Given the description of an element on the screen output the (x, y) to click on. 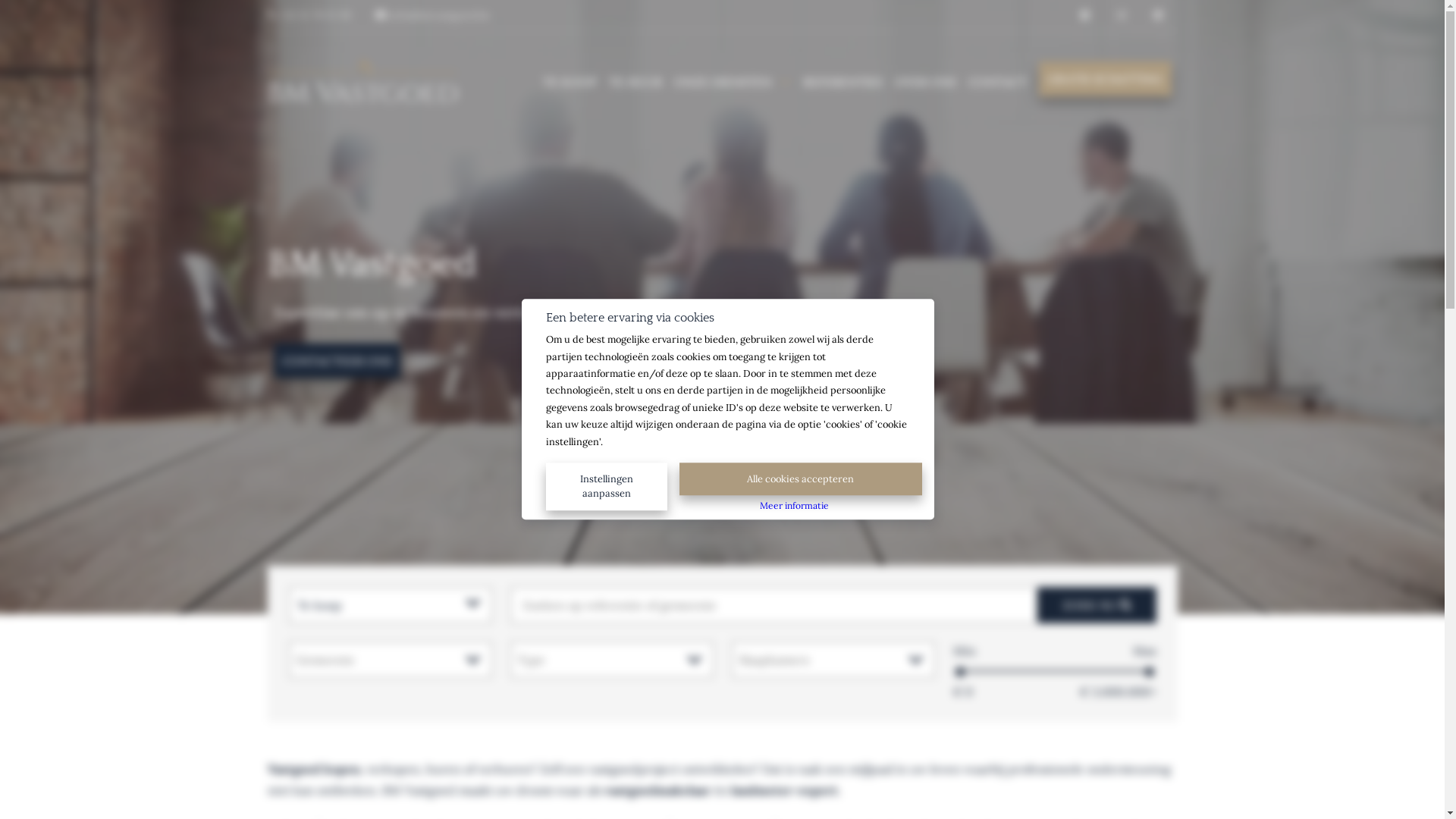
Meer informatie Element type: text (793, 504)
TE HUUR Element type: text (635, 79)
REFERENTIES Element type: text (842, 79)
GRATIS SCHATTING Element type: text (1104, 78)
Alle cookies accepteren Element type: text (800, 478)
  Element type: text (1158, 15)
 +32 15 79 15 99 Element type: text (308, 14)
 info@bmvastgoed.be Element type: text (431, 14)
OVER ONS Element type: text (925, 79)
ONZE DIENSTEN Element type: text (732, 80)
Instellingen aanpassen Element type: text (612, 477)
Home Element type: hover (361, 80)
ZOEK NU  Element type: text (1096, 604)
Instellingen aanpassen Element type: text (606, 486)
CONTACT Element type: text (997, 79)
  Element type: text (1085, 15)
TE KOOP Element type: text (569, 79)
CONTACTEER ONS Element type: text (336, 359)
  Element type: text (1122, 15)
GRATIS SCHATTING Element type: text (1104, 78)
